Given the description of an element on the screen output the (x, y) to click on. 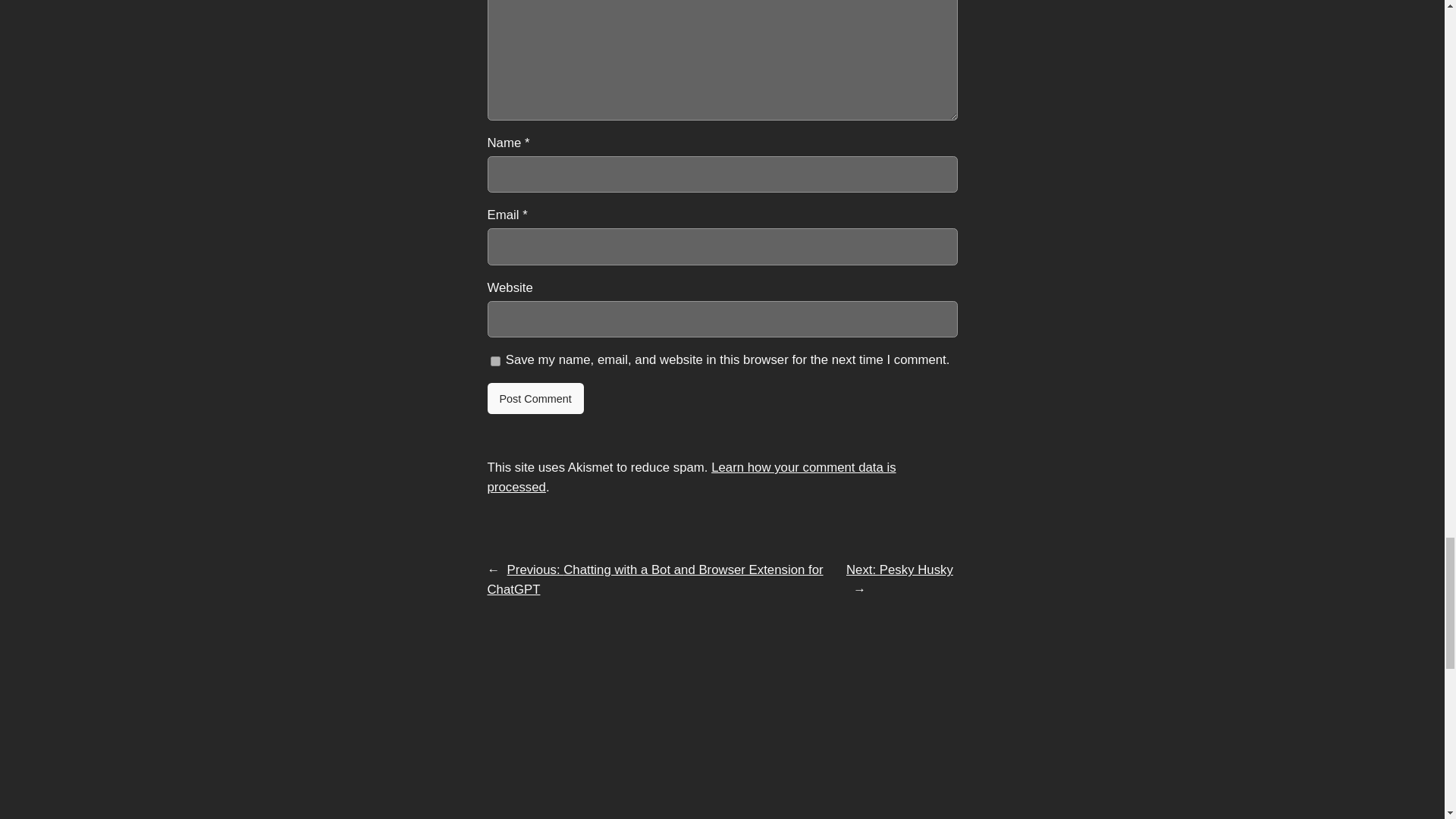
Next: Pesky Husky (899, 569)
Post Comment (534, 398)
Post Comment (534, 398)
Learn how your comment data is processed (690, 477)
